Given the description of an element on the screen output the (x, y) to click on. 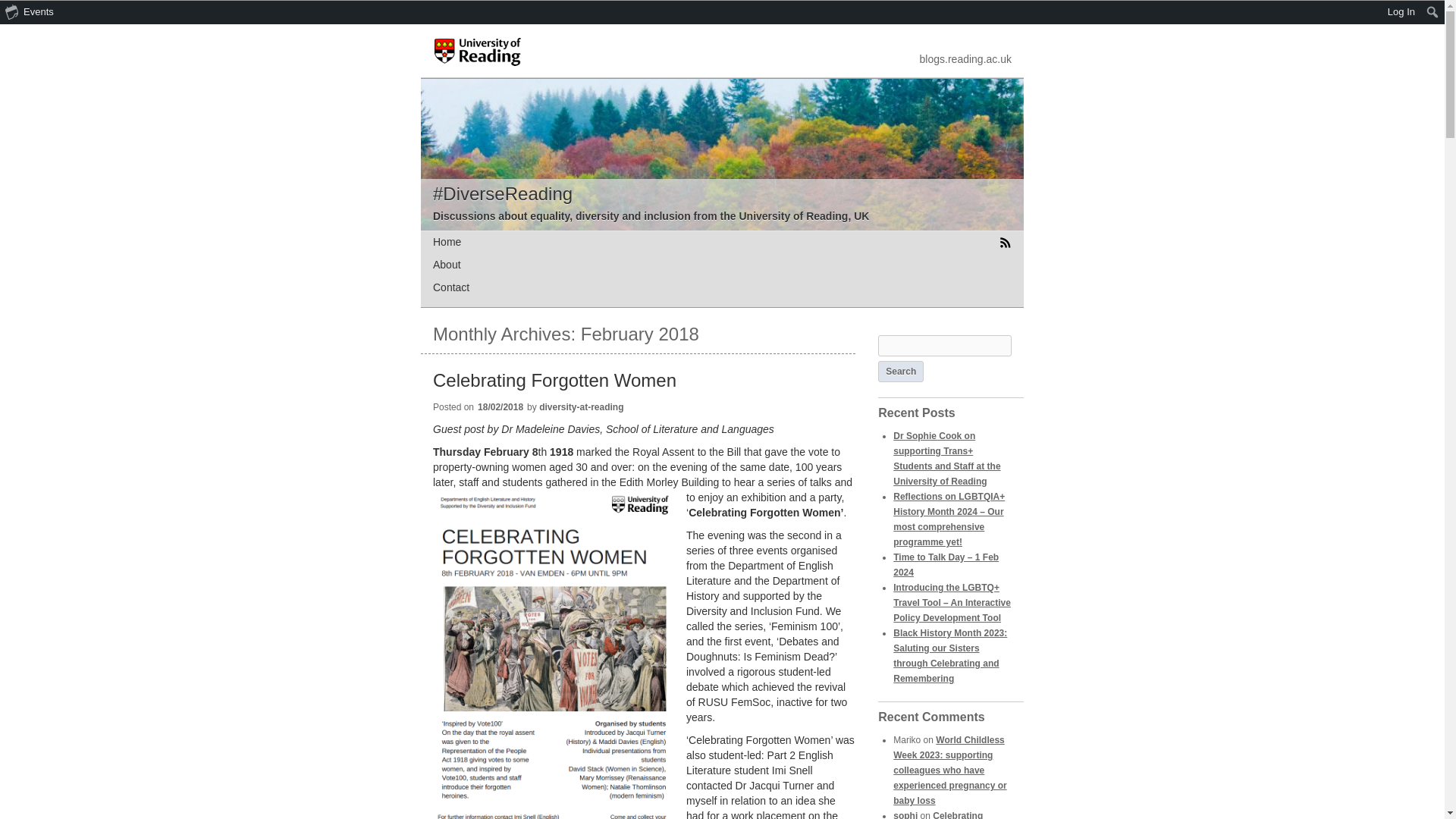
View all posts by diversity-at-reading (580, 407)
diversity-at-reading (580, 407)
Home (446, 241)
Contact (450, 287)
University of Reading home page (477, 66)
University of Reading blogs home page (965, 59)
18:09 (502, 410)
blogs.reading.ac.uk (965, 59)
Permalink to Celebrating Forgotten Women (554, 380)
Search (900, 371)
